Given the description of an element on the screen output the (x, y) to click on. 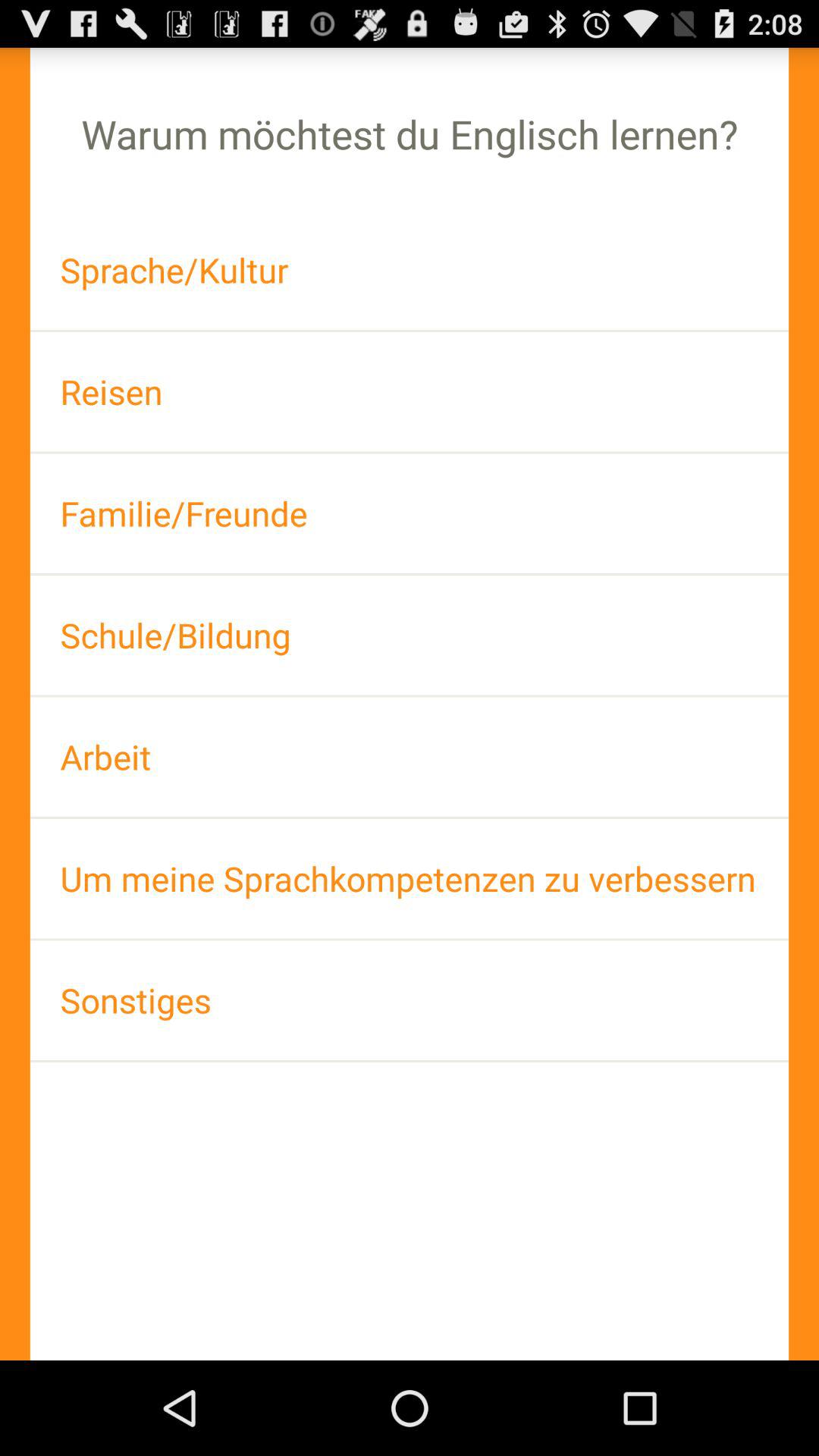
swipe until sprache/kultur icon (409, 269)
